Given the description of an element on the screen output the (x, y) to click on. 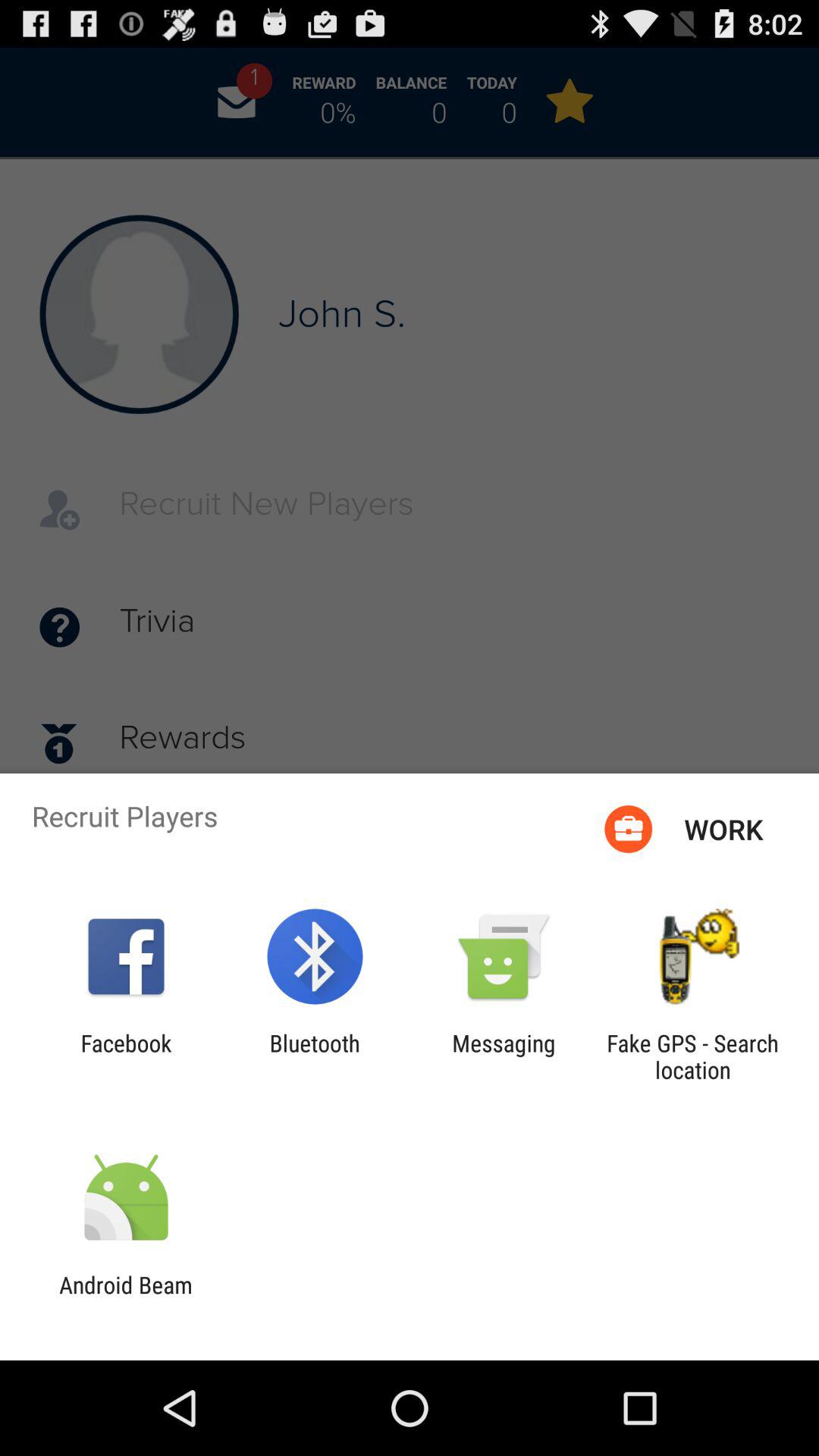
turn on android beam app (125, 1298)
